Given the description of an element on the screen output the (x, y) to click on. 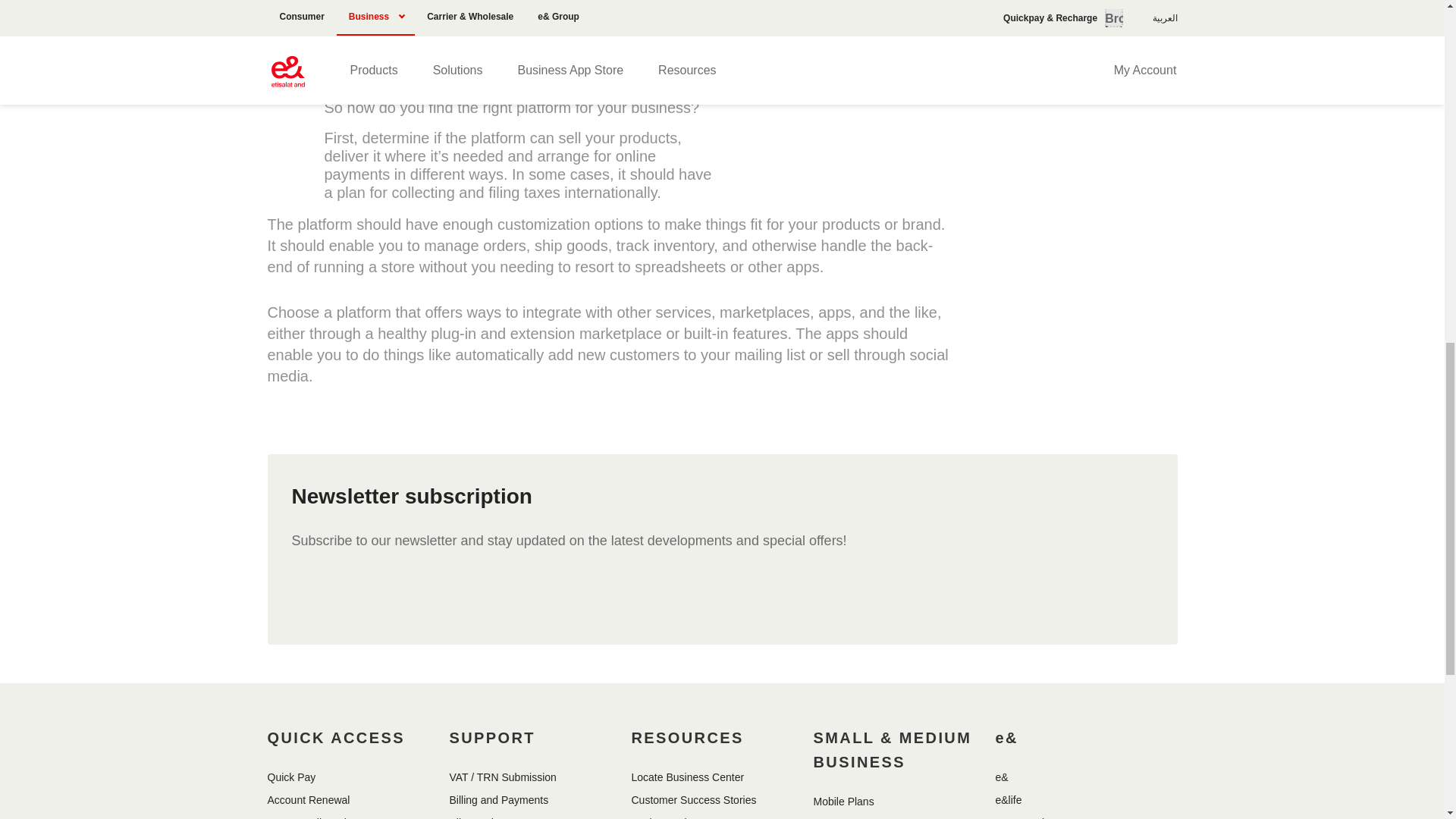
Customer Success Stories (692, 799)
Business Blog (664, 816)
Elite Business Program (503, 816)
Locate Business Center (687, 776)
Mobile Plans (842, 801)
Account Renewal (307, 799)
Billing and Payments (498, 799)
Do Not Call Registry (314, 816)
Quick Pay (290, 776)
